Given the description of an element on the screen output the (x, y) to click on. 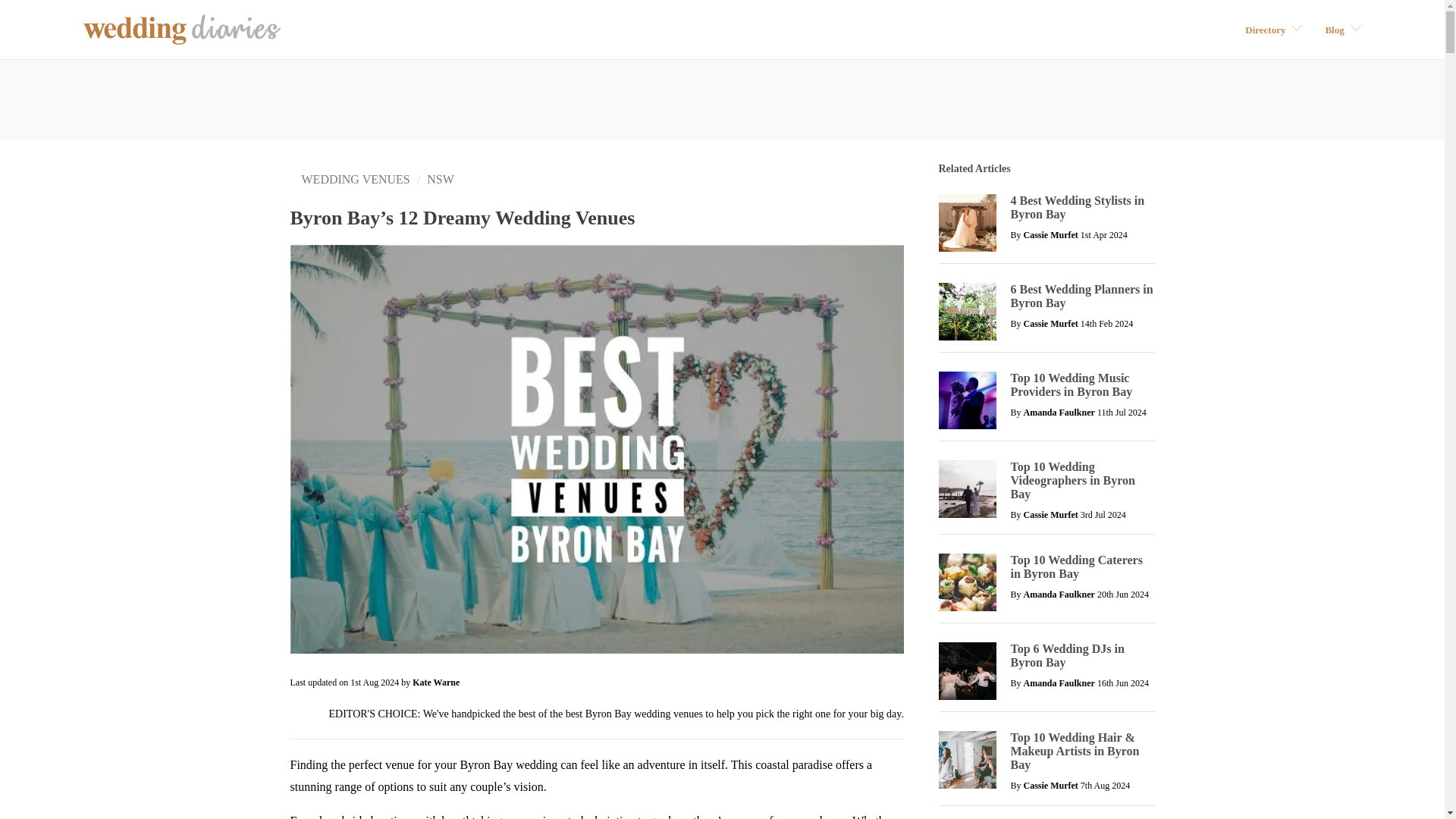
Wedding Diaries (181, 29)
Directory (1272, 29)
